Given the description of an element on the screen output the (x, y) to click on. 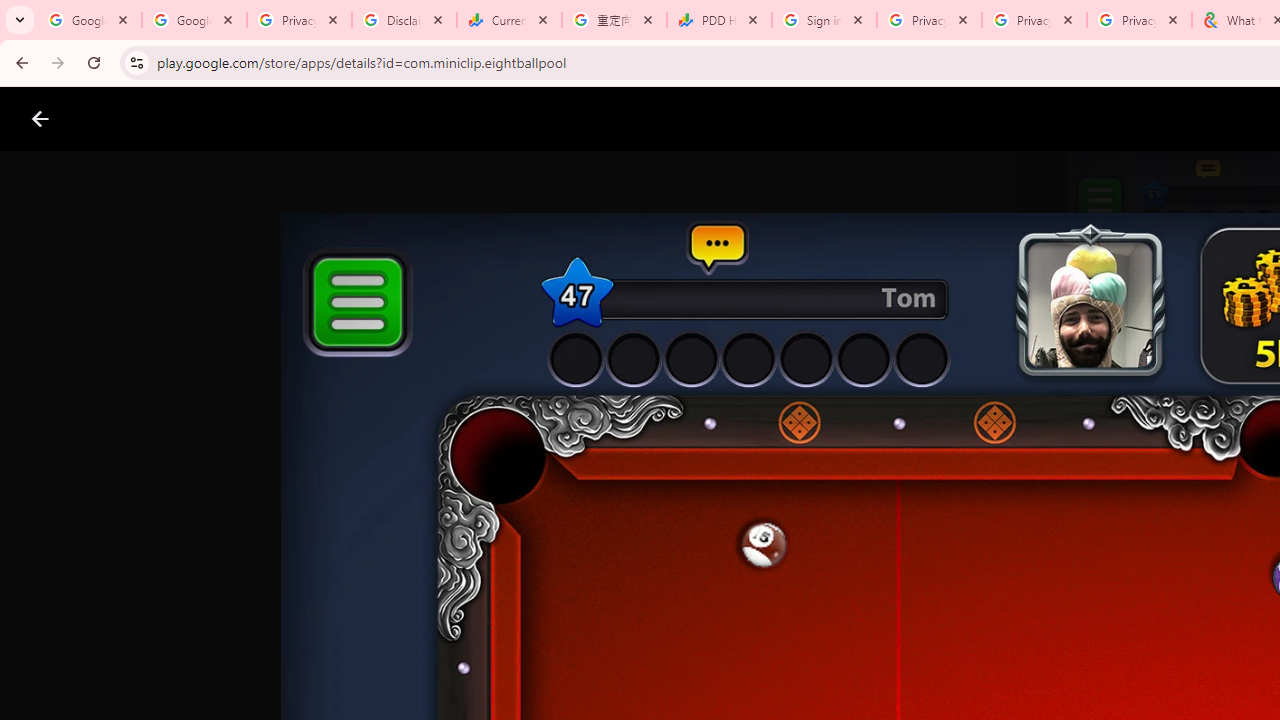
Google Play logo (111, 119)
More info about this content rating (1013, 678)
Kids (385, 119)
Privacy Checkup (1033, 20)
Content rating (973, 656)
Currencies - Google Finance (509, 20)
Sign in - Google Accounts (823, 20)
Google Workspace Admin Community (89, 20)
